Given the description of an element on the screen output the (x, y) to click on. 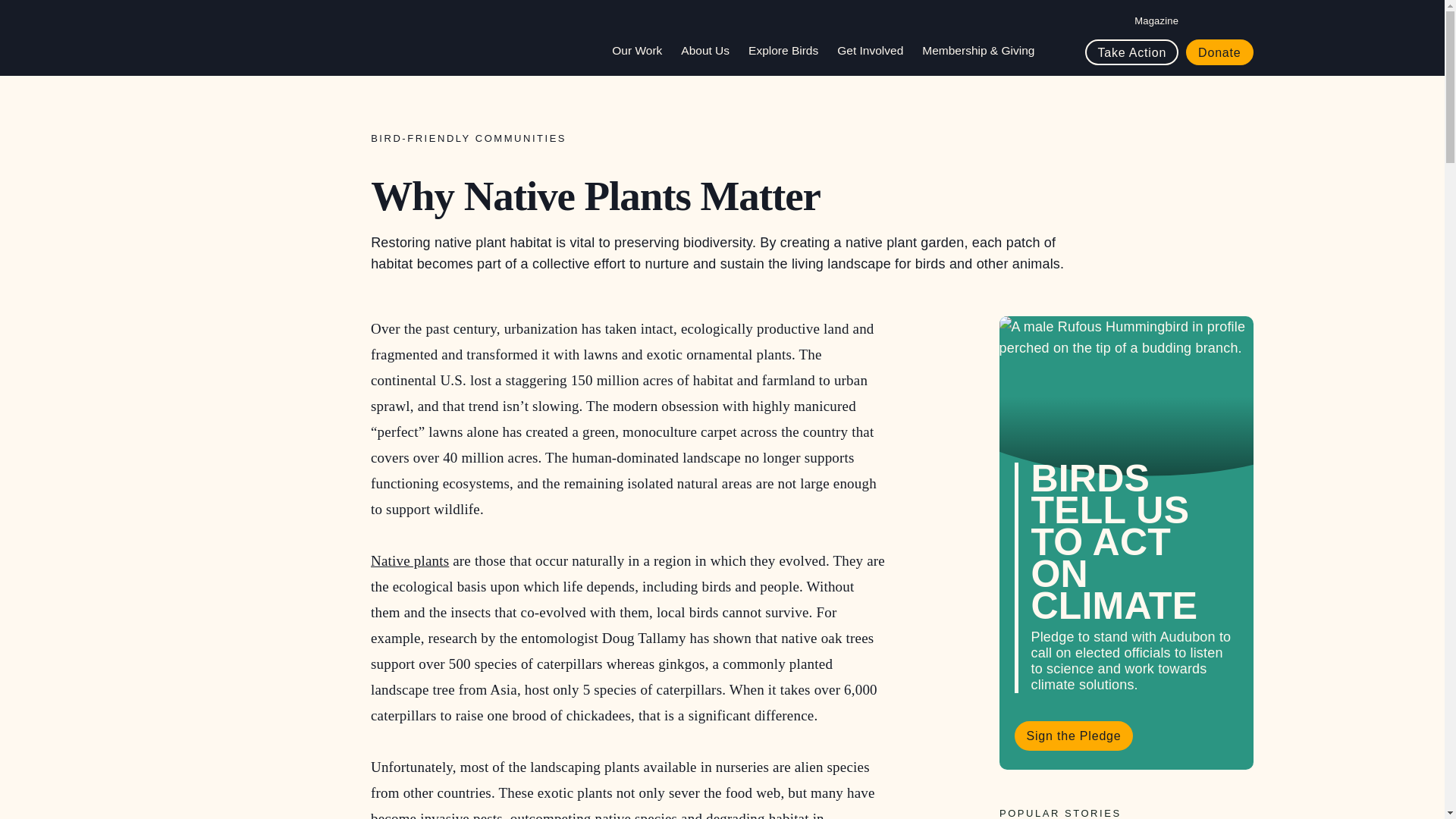
Explore Birds (788, 50)
Magazine (1155, 20)
About Us (711, 50)
Our Work (641, 50)
Audubon (266, 37)
